Given the description of an element on the screen output the (x, y) to click on. 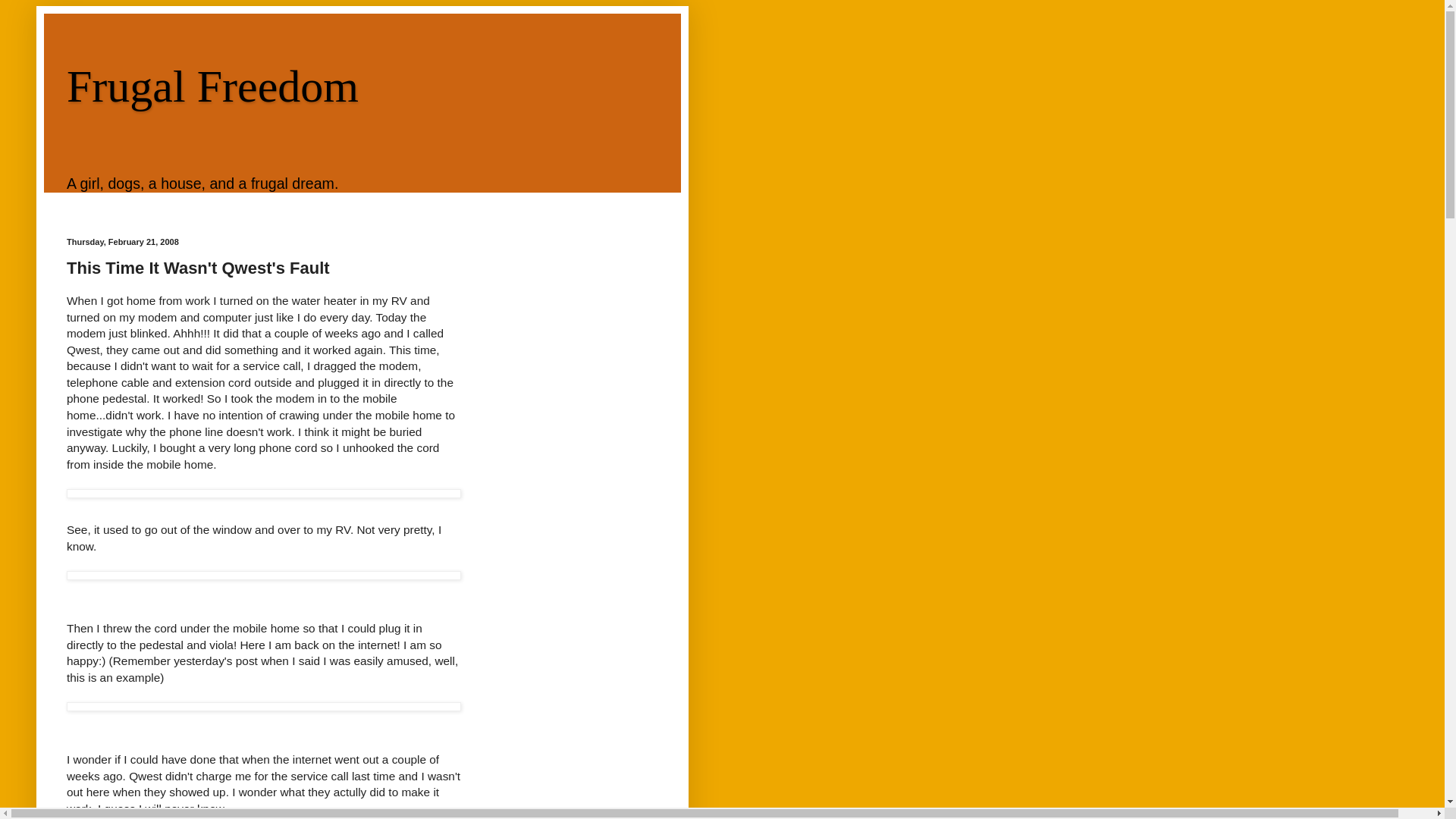
Frugal Freedom (212, 86)
